Given the description of an element on the screen output the (x, y) to click on. 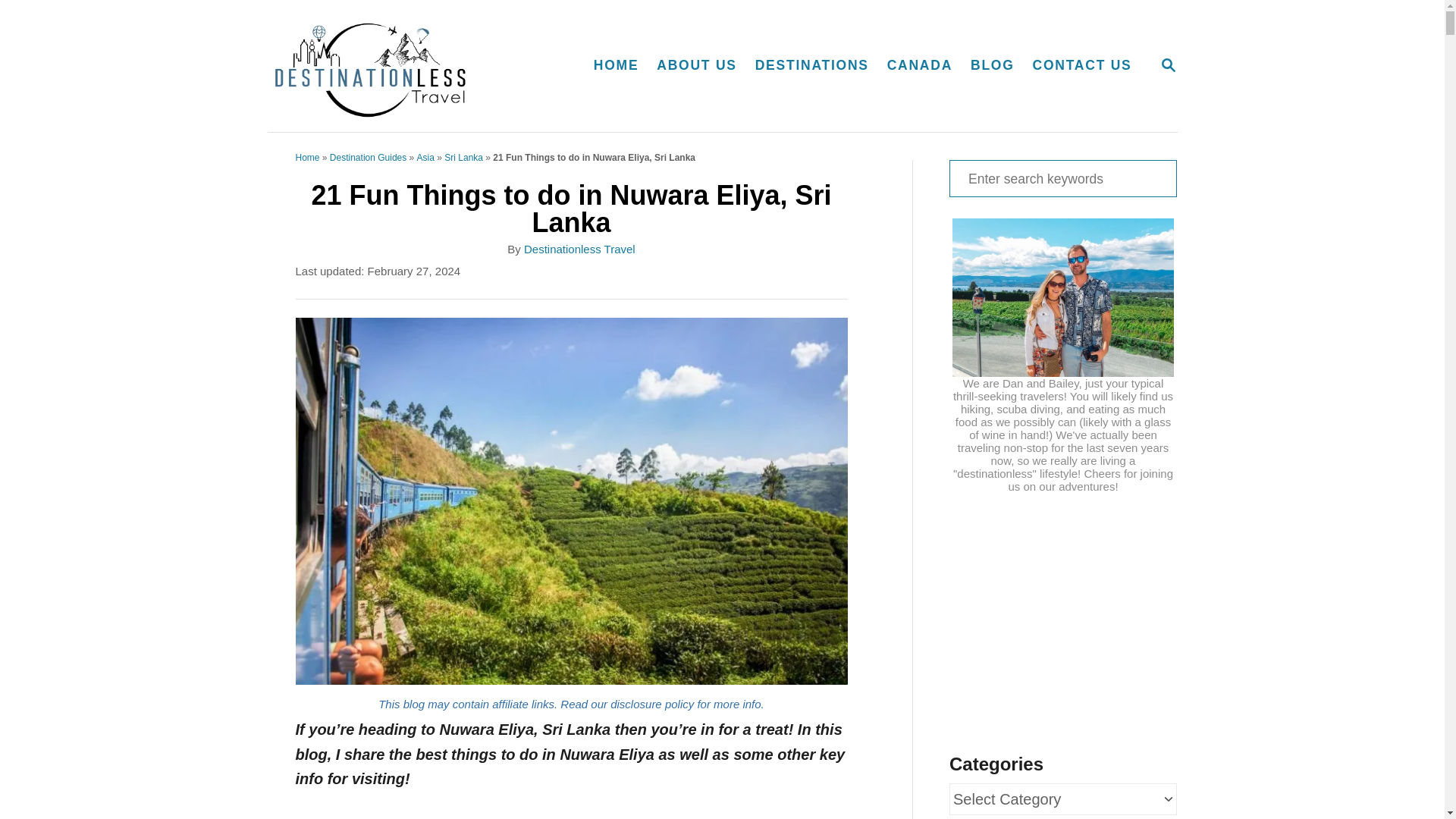
CONTACT US (1082, 65)
ABOUT US (696, 65)
Destinationless Travel (1168, 65)
MAGNIFYING GLASS (402, 65)
DESTINATIONS (1167, 65)
CANADA (811, 65)
HOME (918, 65)
Search for: (616, 65)
BLOG (1062, 178)
